Given the description of an element on the screen output the (x, y) to click on. 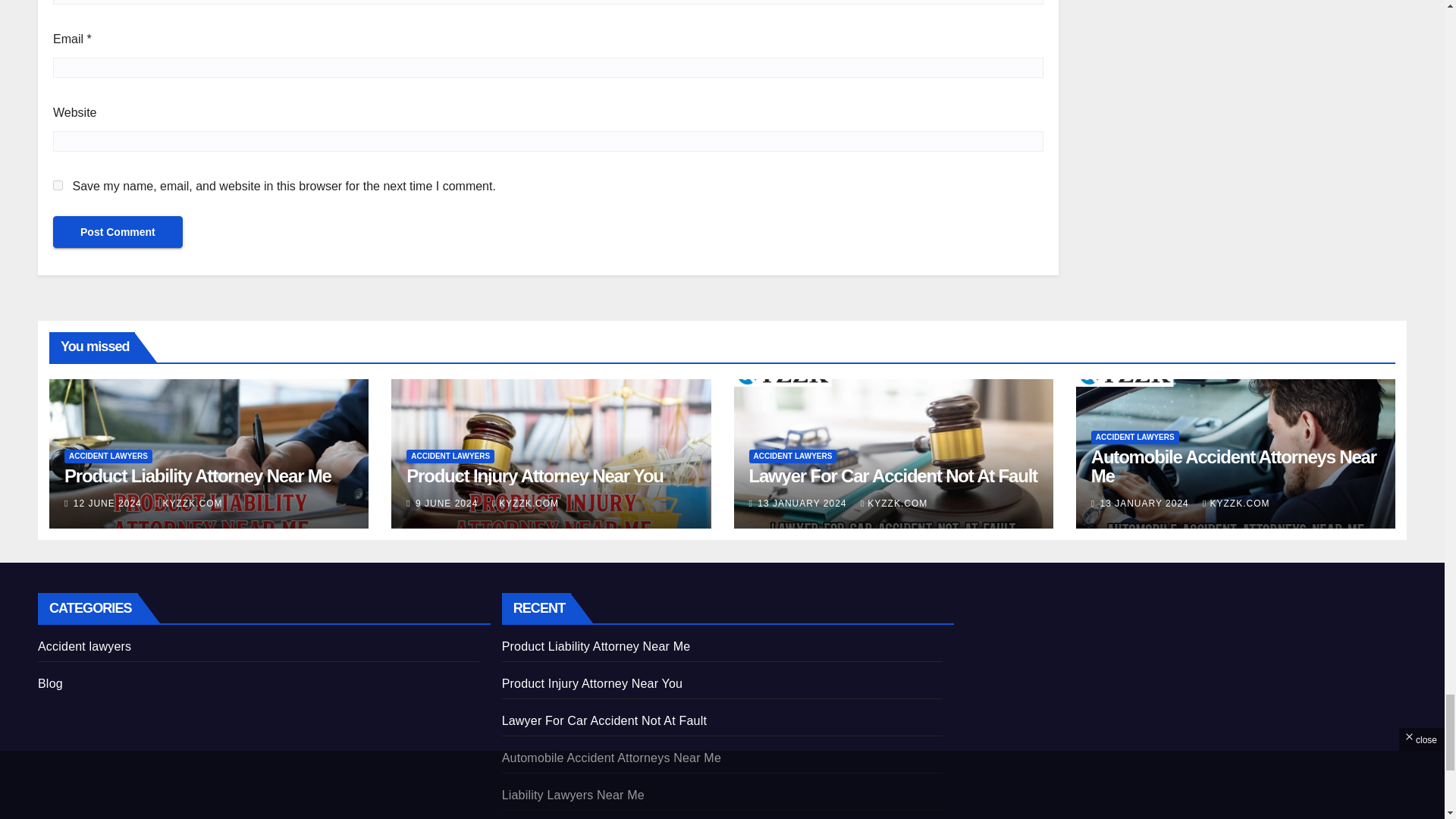
yes (57, 185)
Post Comment (117, 232)
